Given the description of an element on the screen output the (x, y) to click on. 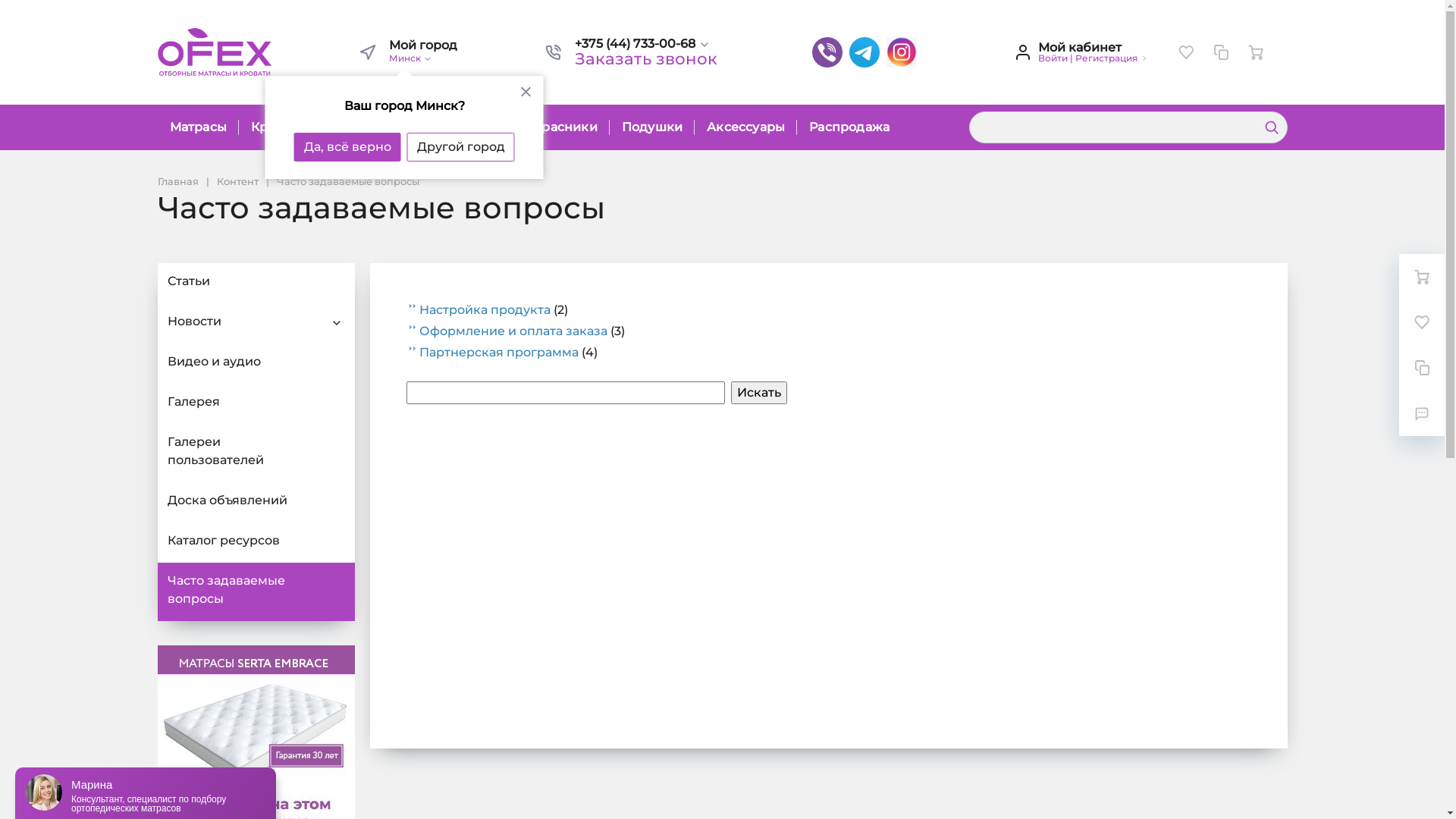
+375 (44) 733-00-68 Element type: text (645, 43)
logo.png Element type: hover (214, 52)
